Given the description of an element on the screen output the (x, y) to click on. 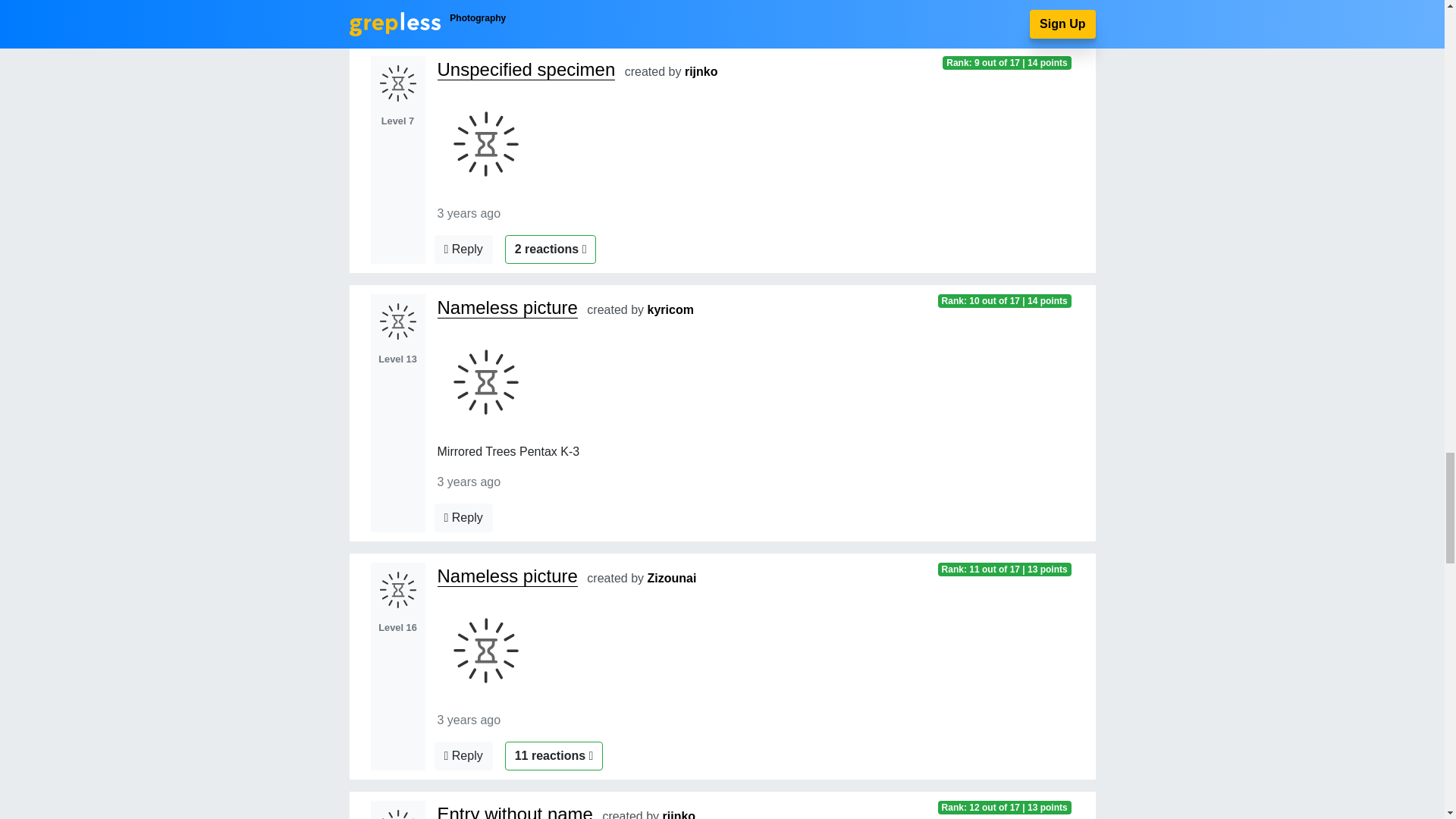
Answers to this response (462, 517)
Answers to this response (462, 12)
Answers to this response (462, 756)
Answers to this response (462, 249)
